Given the description of an element on the screen output the (x, y) to click on. 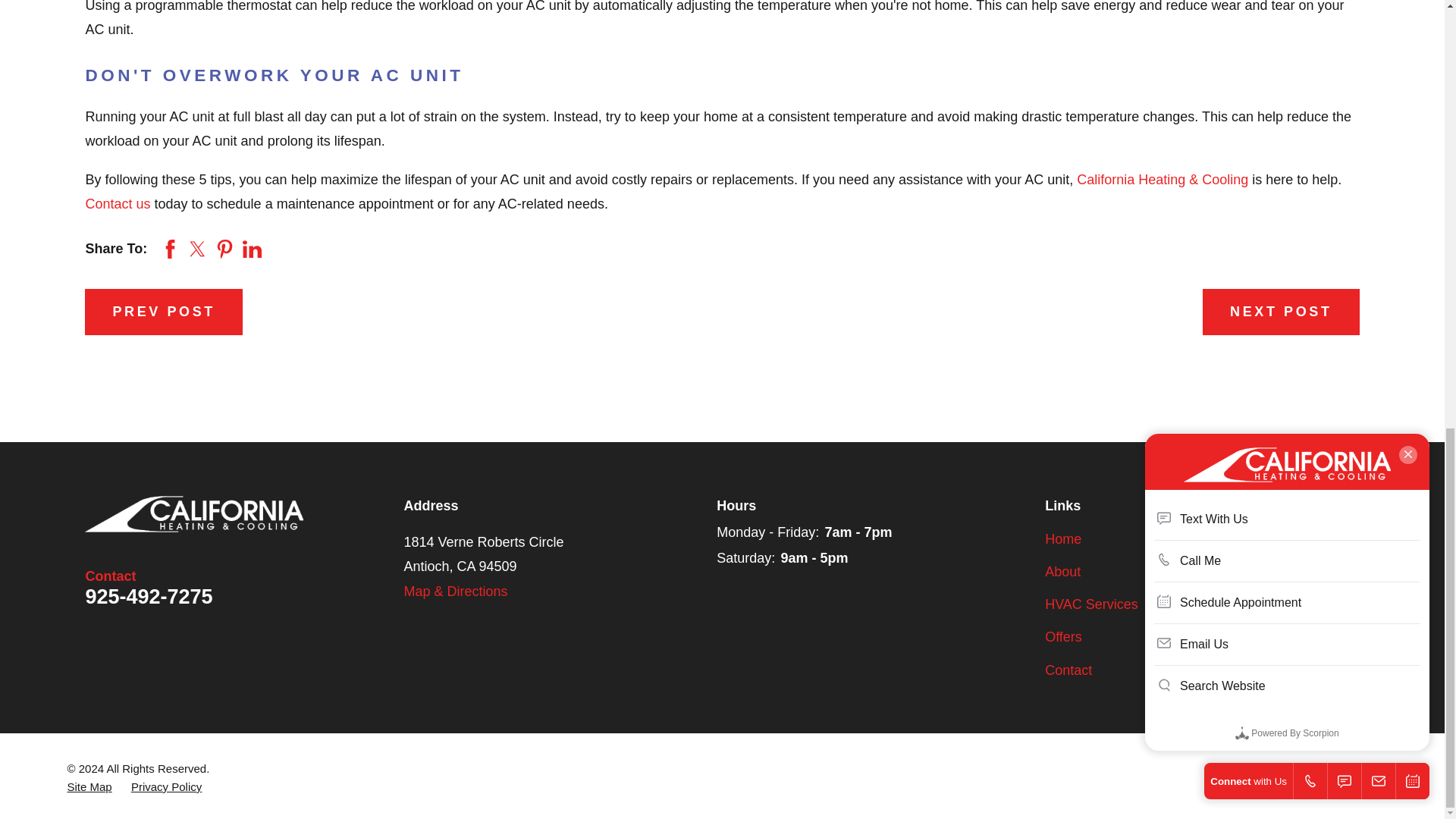
Home (193, 514)
Facebook (1300, 538)
Yelp (1348, 538)
